Given the description of an element on the screen output the (x, y) to click on. 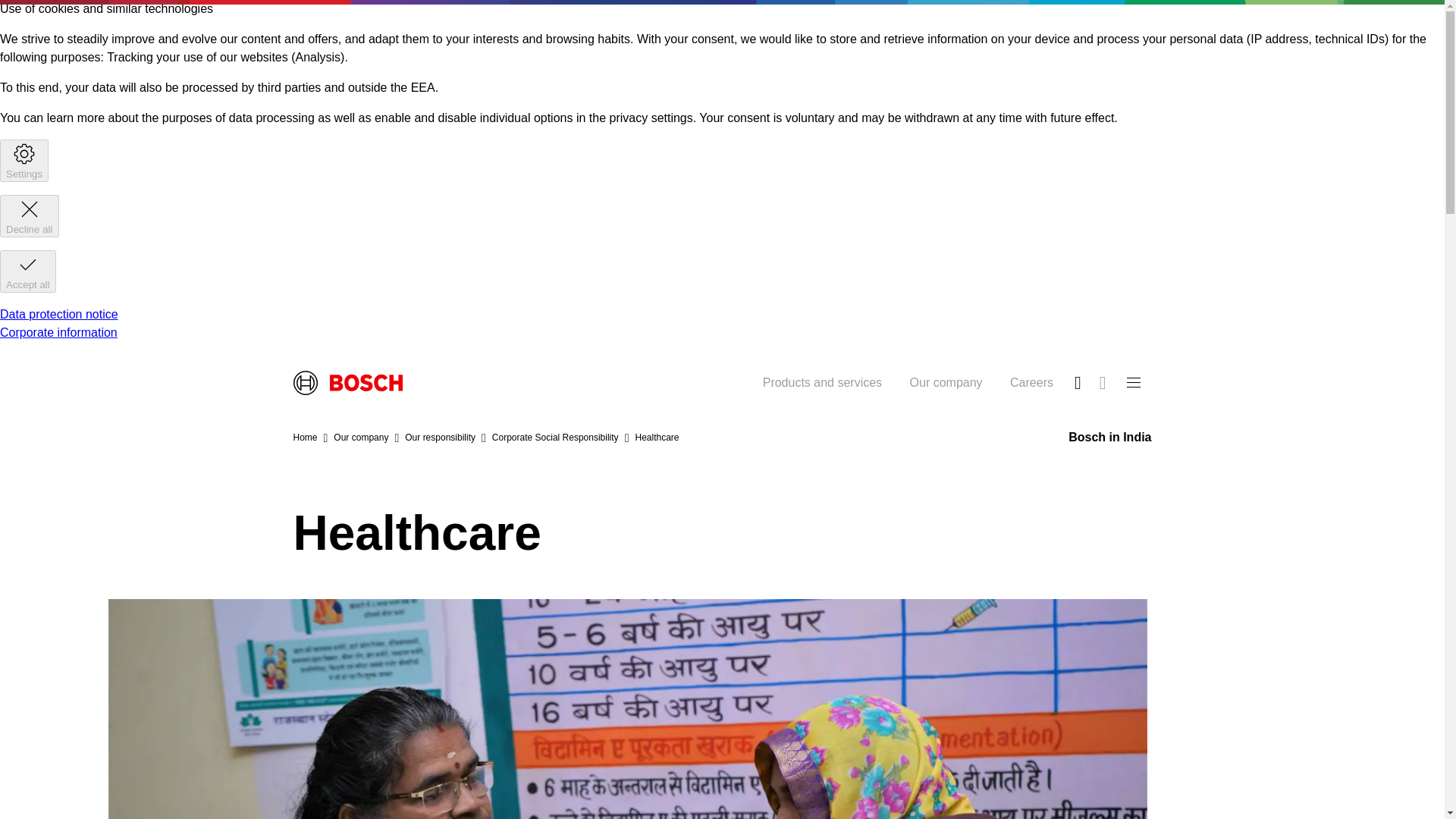
Products and services (822, 382)
Menu (1133, 382)
Our company (946, 382)
Careers (1031, 382)
